Given the description of an element on the screen output the (x, y) to click on. 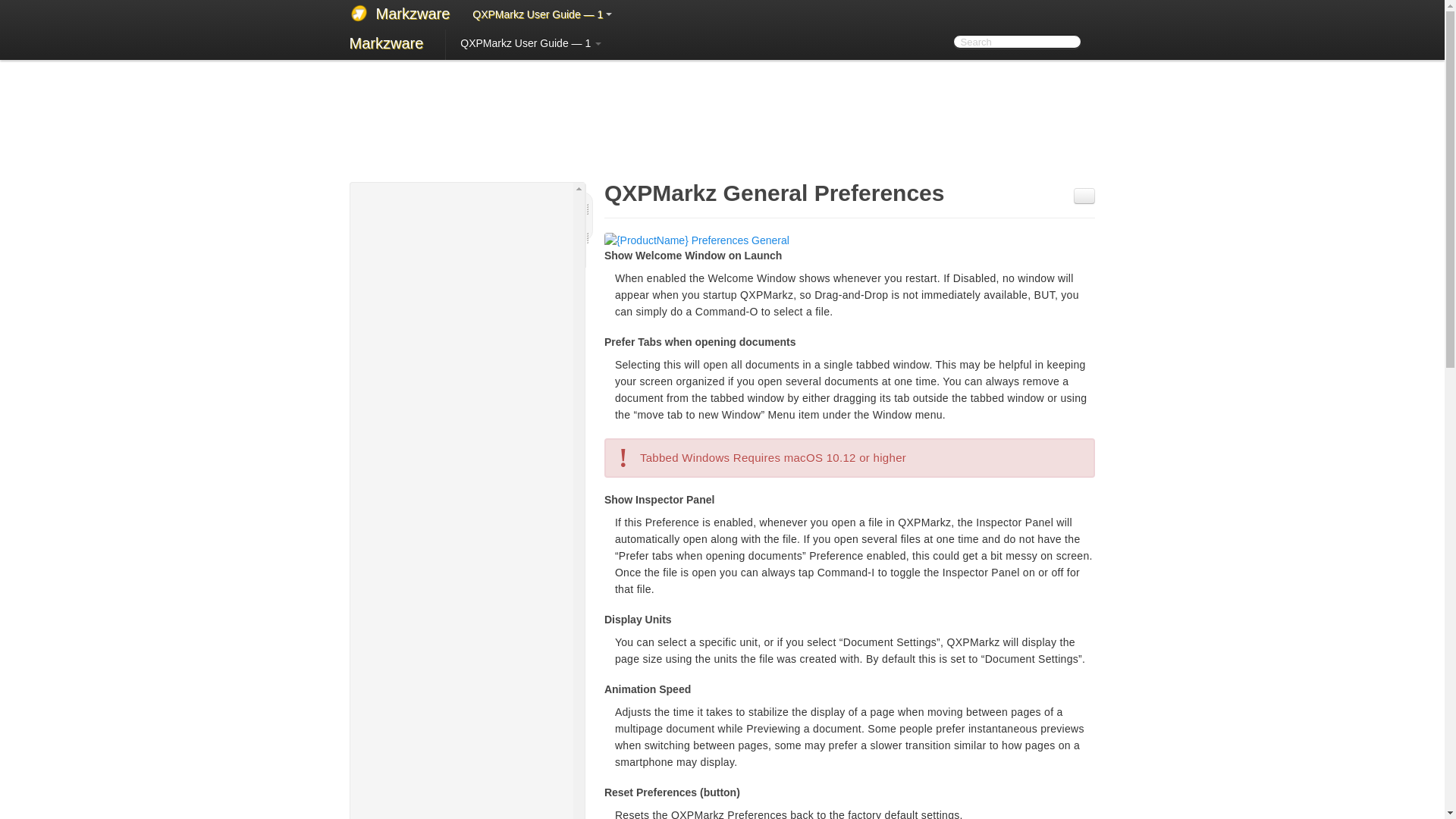
Search (1016, 41)
PRODUCTS (434, 30)
SUPPORT (599, 30)
Print page (1084, 195)
STORE (519, 30)
